Given the description of an element on the screen output the (x, y) to click on. 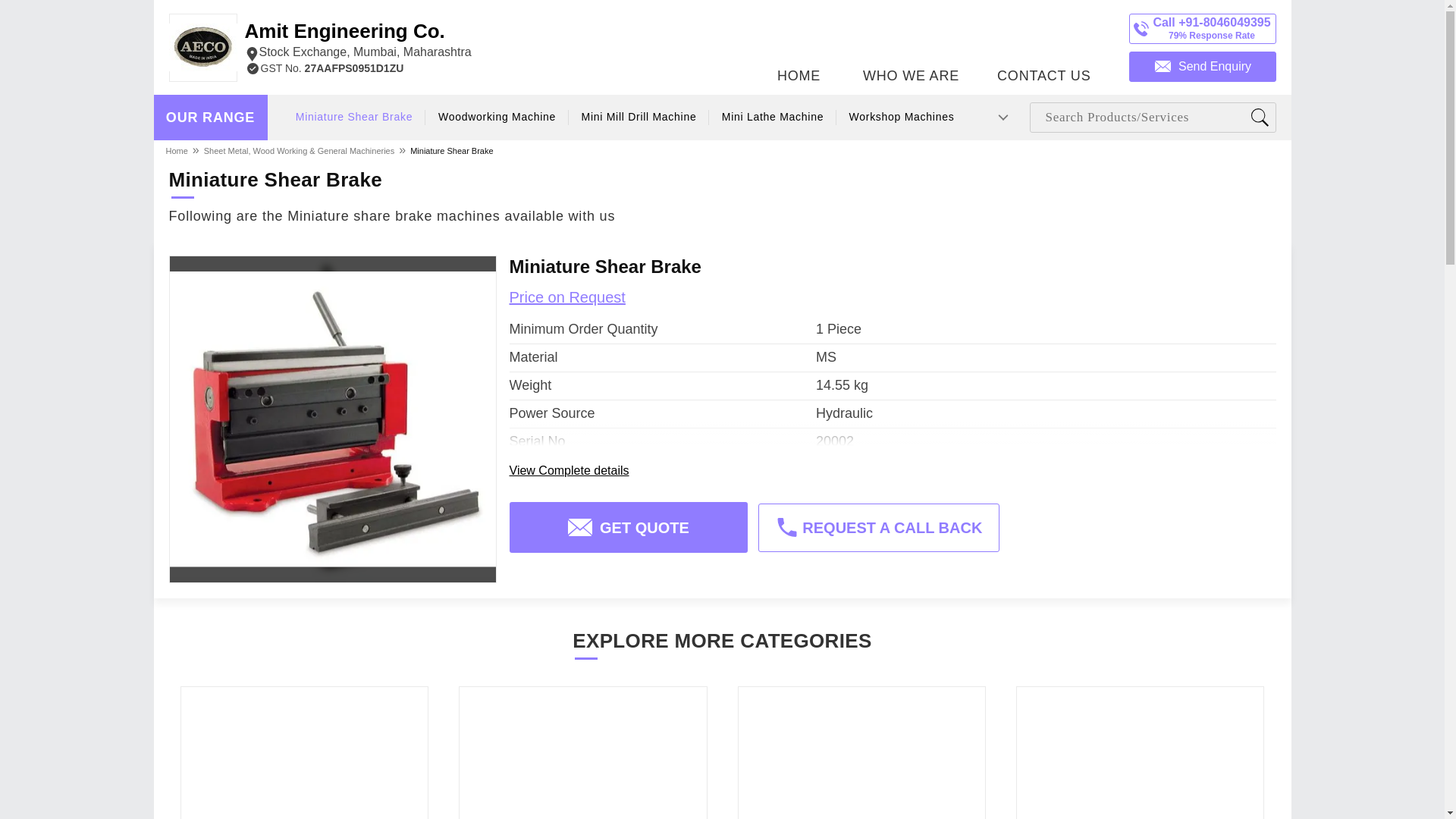
Woodworking Machine (497, 117)
Miniature Shear Brake (451, 150)
Workshop Machines (901, 117)
Miniature Shear Brake (354, 117)
WHO WE ARE (911, 43)
OUR RANGE (357, 41)
Home (209, 117)
Mini Lathe Machine (176, 150)
CONTACT US (772, 117)
Mini Mill Drill Machine (1043, 43)
